Given the description of an element on the screen output the (x, y) to click on. 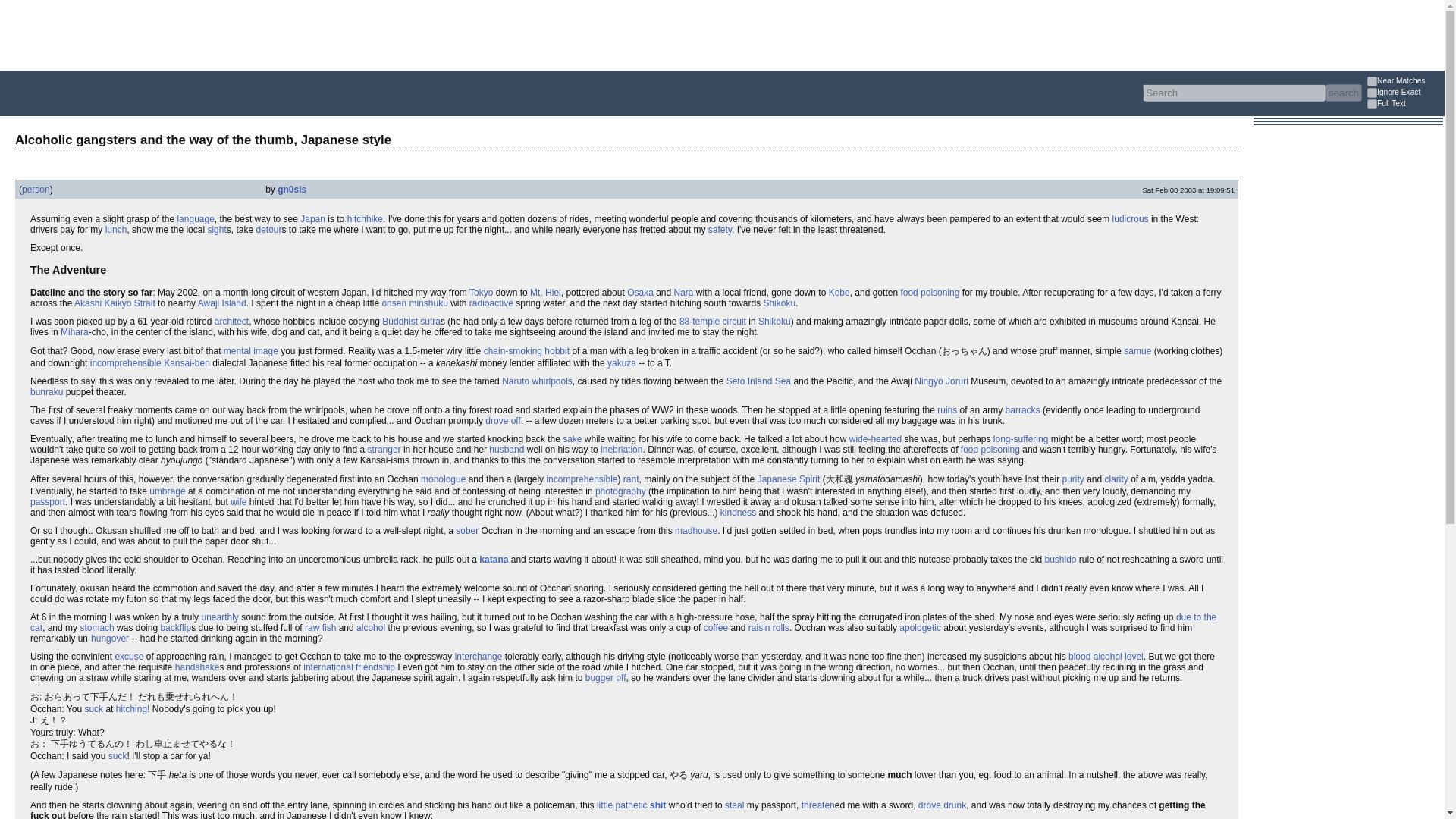
yakuza (621, 362)
Seto Inland Sea (758, 380)
detour (269, 229)
sutra (430, 321)
person (35, 189)
ludicrous (1130, 218)
safety (719, 229)
1 (1372, 103)
Kobe (839, 292)
gn0sis (291, 189)
